Given the description of an element on the screen output the (x, y) to click on. 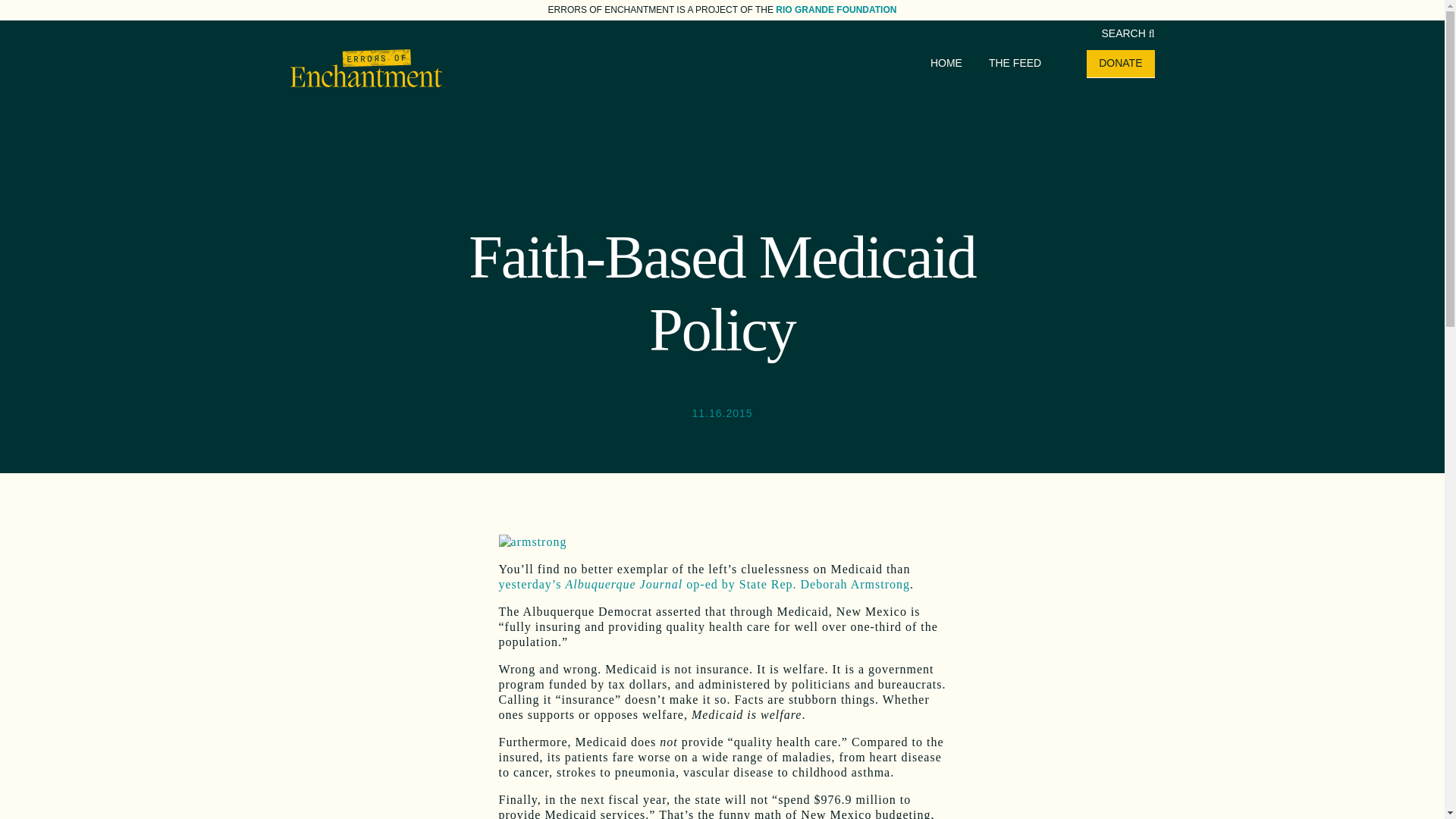
DONATE (1120, 62)
SEARCH (1127, 33)
RIO GRANDE FOUNDATION (836, 9)
HOME (946, 62)
THE FEED (1014, 62)
